Given the description of an element on the screen output the (x, y) to click on. 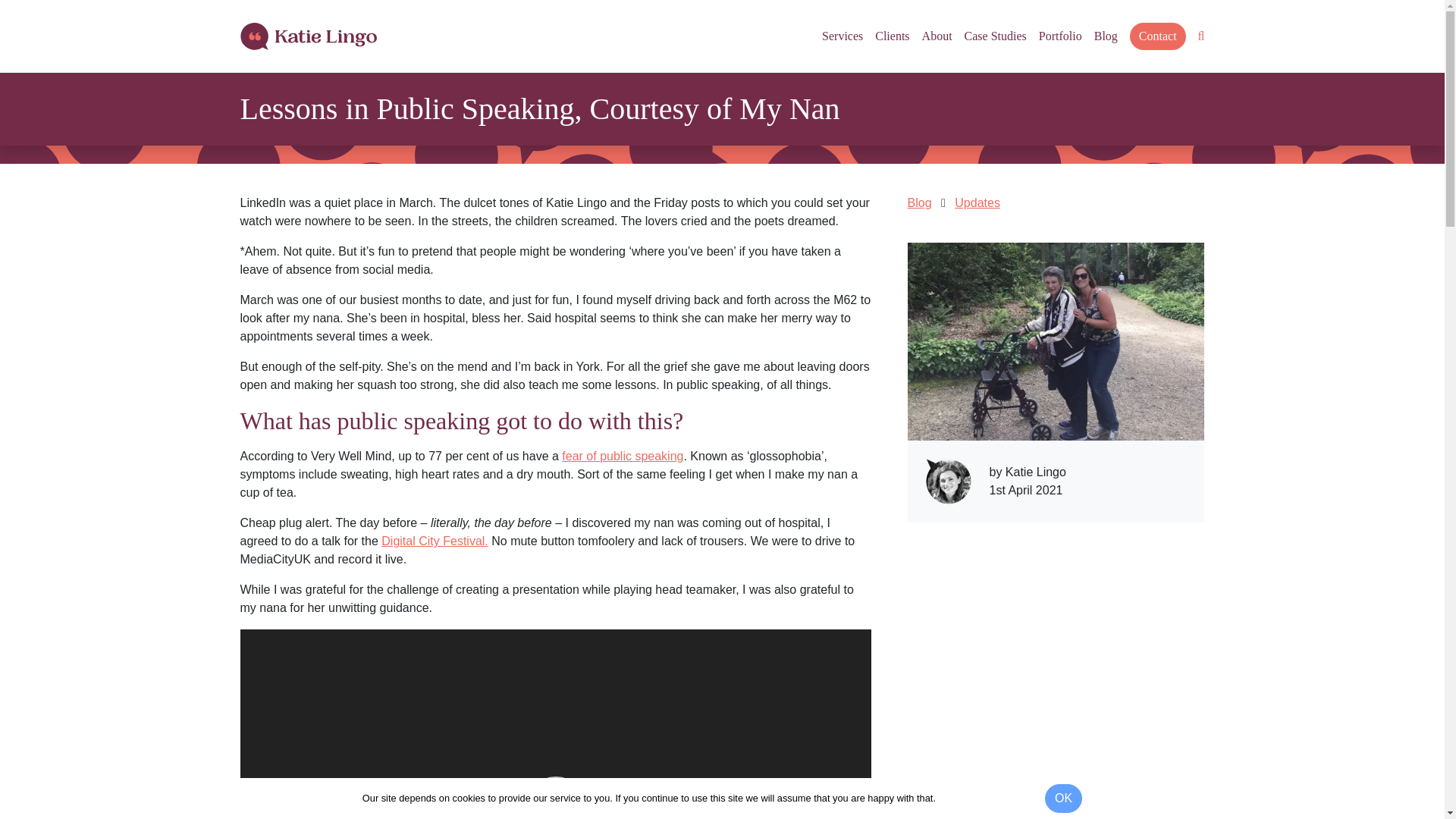
Services (842, 36)
Contact (1157, 35)
Blog Home (919, 202)
Clients (891, 36)
About (936, 36)
Go Home (307, 36)
View our cookie policy (989, 797)
Case Studies (994, 36)
Updates (977, 202)
Portfolio (1060, 36)
Blog (1106, 36)
